Given the description of an element on the screen output the (x, y) to click on. 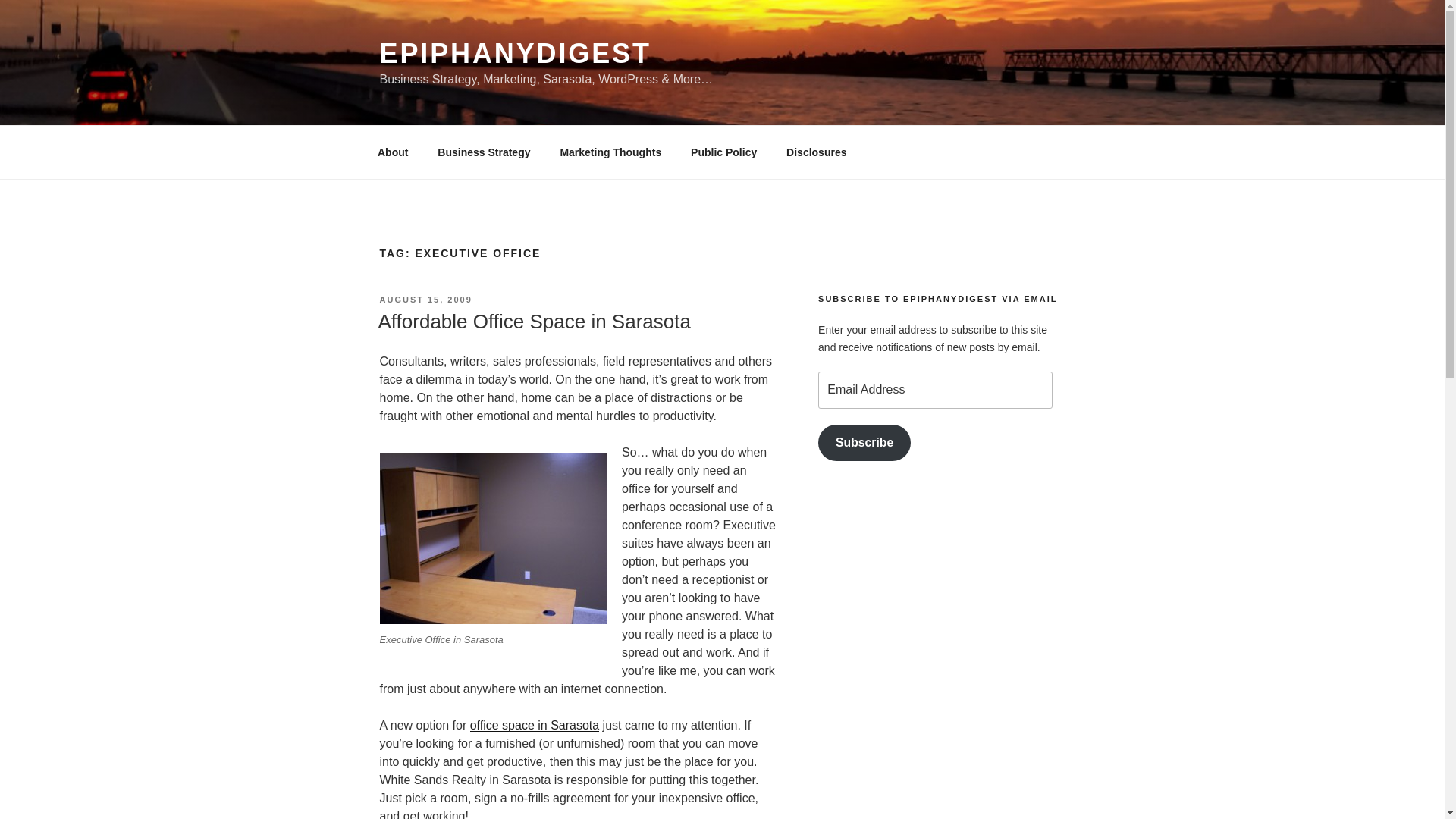
Marketing Thoughts (611, 151)
office space in Sarasota (534, 725)
Executive Office in Sarasota (492, 538)
Public Policy (724, 151)
About (392, 151)
Business Strategy (484, 151)
EPIPHANYDIGEST (514, 52)
Subscribe (864, 443)
Disclosures (816, 151)
Affordable Office Space in Sarasota (533, 321)
AUGUST 15, 2009 (424, 298)
